Given the description of an element on the screen output the (x, y) to click on. 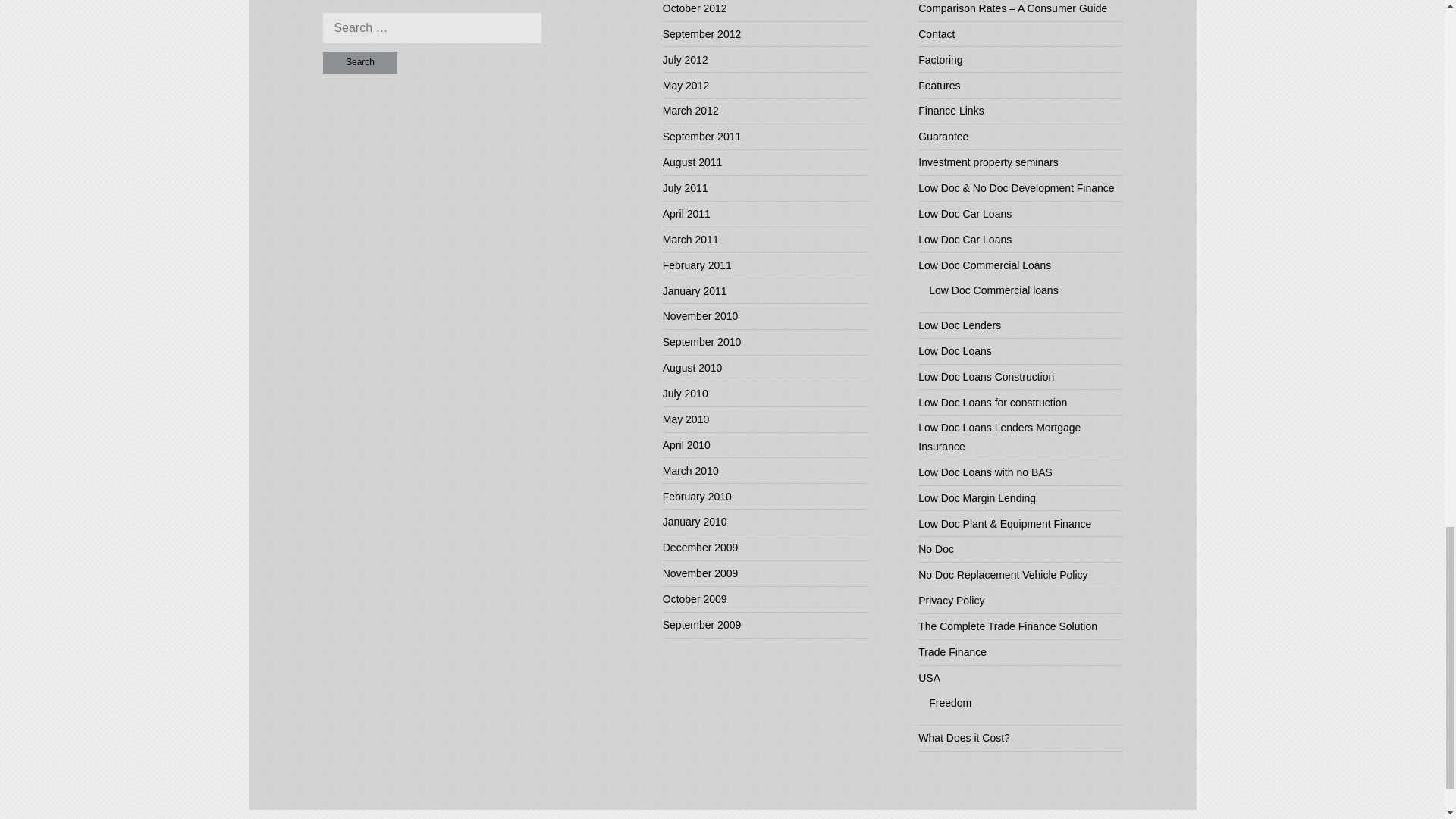
Search for: (432, 28)
Search (360, 62)
Search (360, 62)
